Given the description of an element on the screen output the (x, y) to click on. 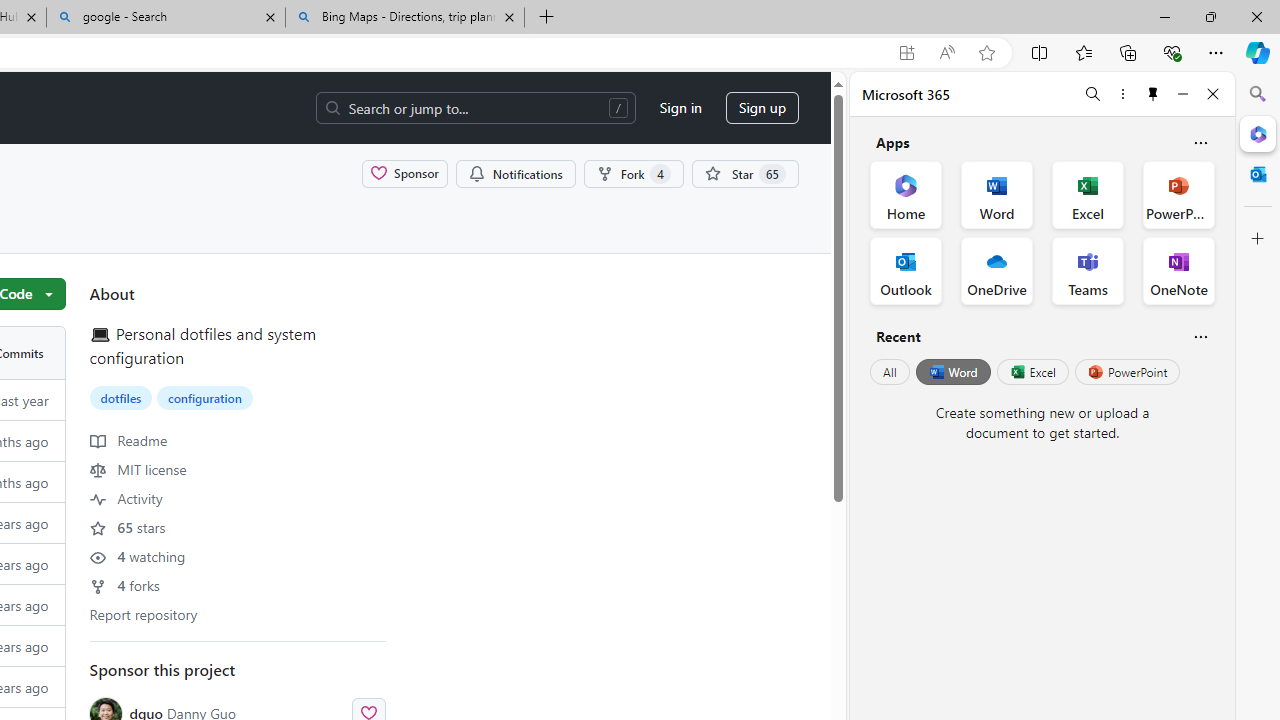
 MIT license (137, 468)
Home Office App (906, 194)
OneDrive Office App (996, 270)
App available. Install GitHub (906, 53)
Fork 4 (632, 173)
OneNote Office App (1178, 270)
Unpin side pane (1153, 93)
PowerPoint Office App (1178, 194)
